Given the description of an element on the screen output the (x, y) to click on. 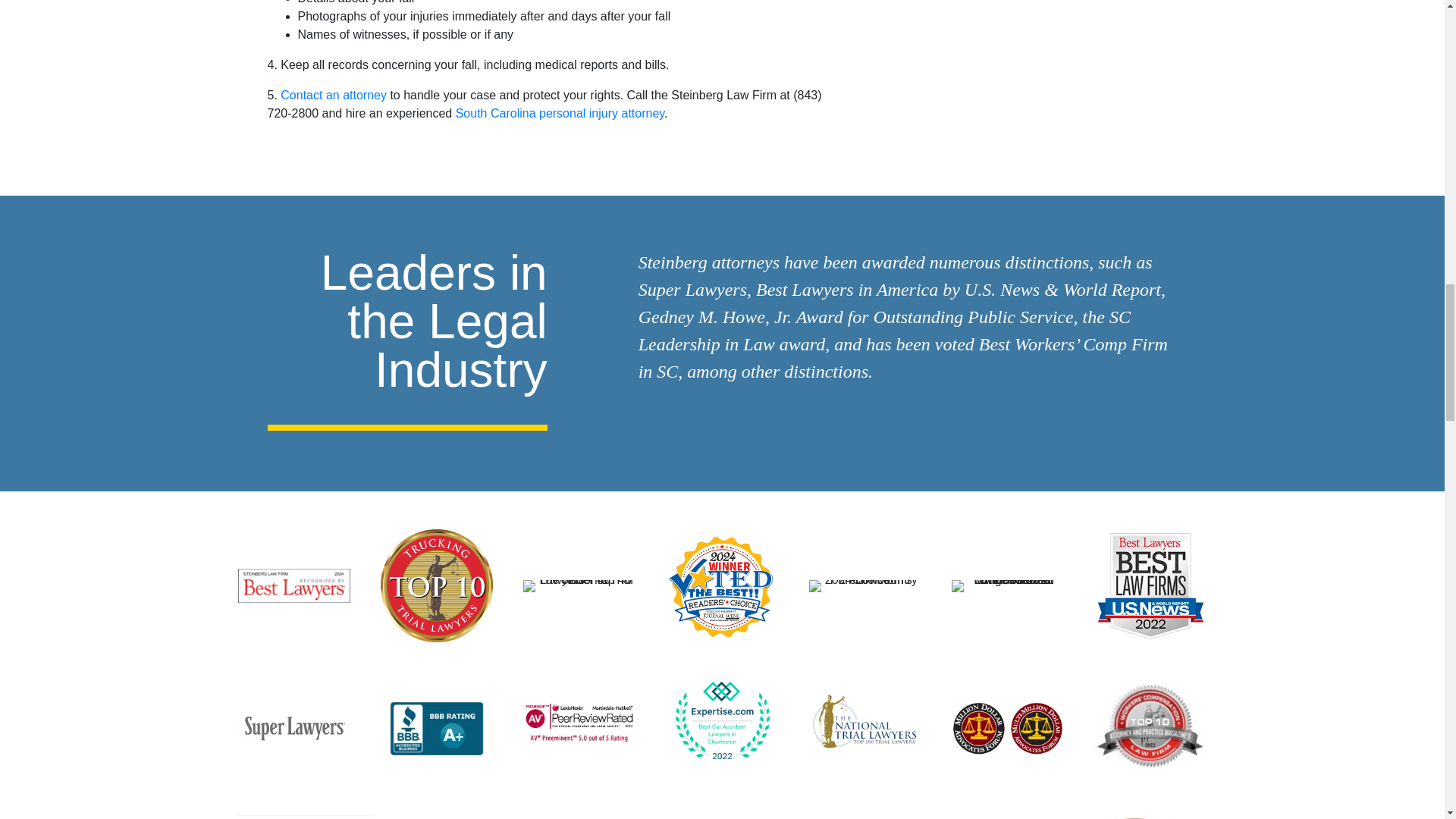
million-dollar-f (1008, 728)
2024 Reader's Choice Winner - Summerville Journal Scene (721, 585)
Expertise 2022 Best Car Accident Lawyers in Charleston (721, 721)
The National Trial Lawyers - Top 40 Under 40 (578, 585)
national-trial-lawyers (865, 720)
Steinberg Law Firm Best Lawyers 2024 (294, 585)
2024 Lowcountry Parent - Mom's Choice (865, 585)
bbb (436, 728)
av-reviewed-5 (578, 720)
